Given the description of an element on the screen output the (x, y) to click on. 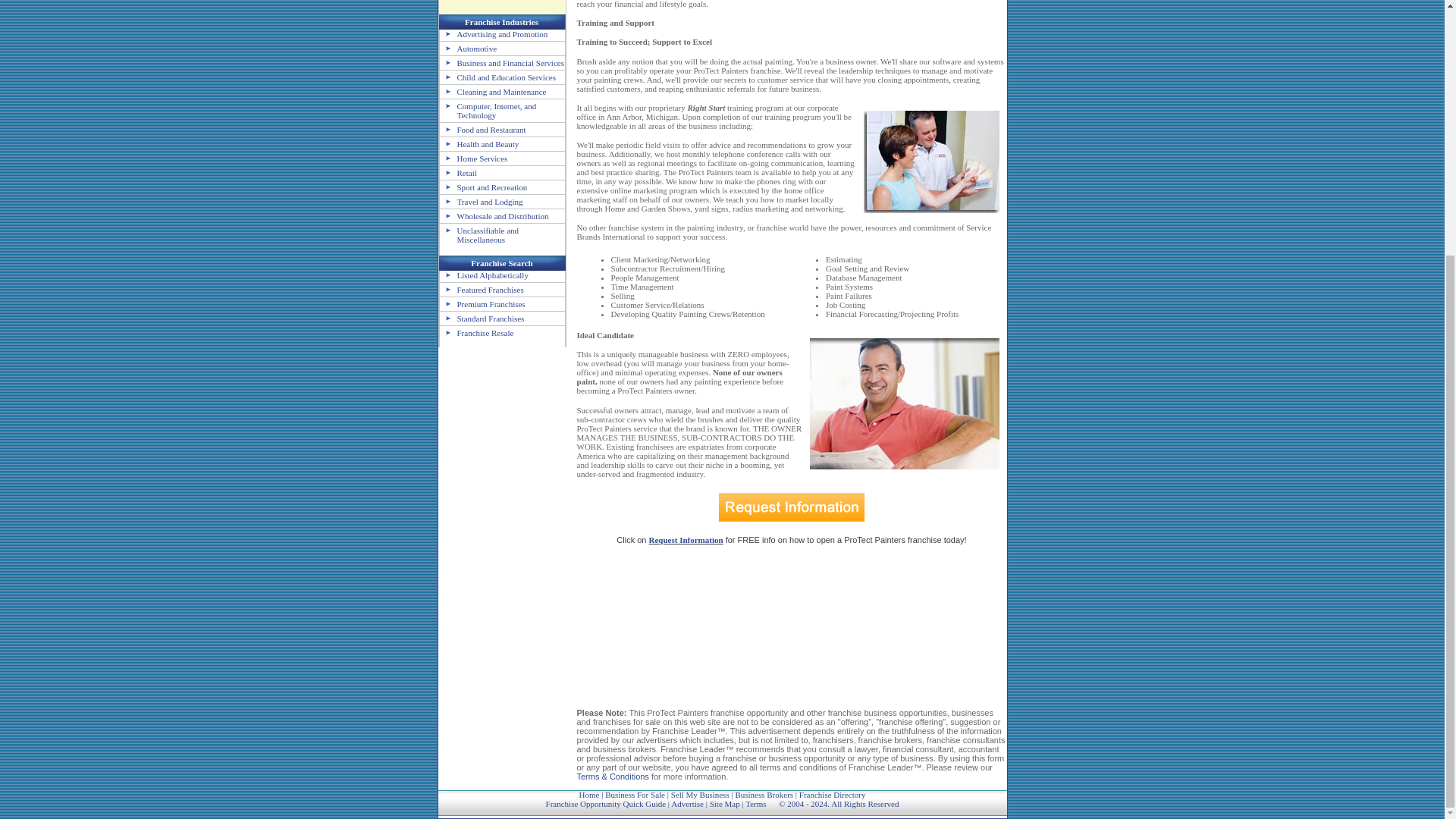
Food and Restaurant (482, 129)
Sell My Business (700, 794)
Travel and Lodging (480, 201)
Home Services (473, 157)
Retail (458, 172)
Computer, Internet, and Technology (488, 110)
Franchise Directory (832, 794)
Health and Beauty (479, 143)
Child and Education Services (497, 76)
Standard Franchises (481, 317)
Request Information (686, 539)
Wholesale and Distribution (493, 215)
Home (589, 794)
Business Brokers (764, 794)
Advertising and Promotion (493, 33)
